Given the description of an element on the screen output the (x, y) to click on. 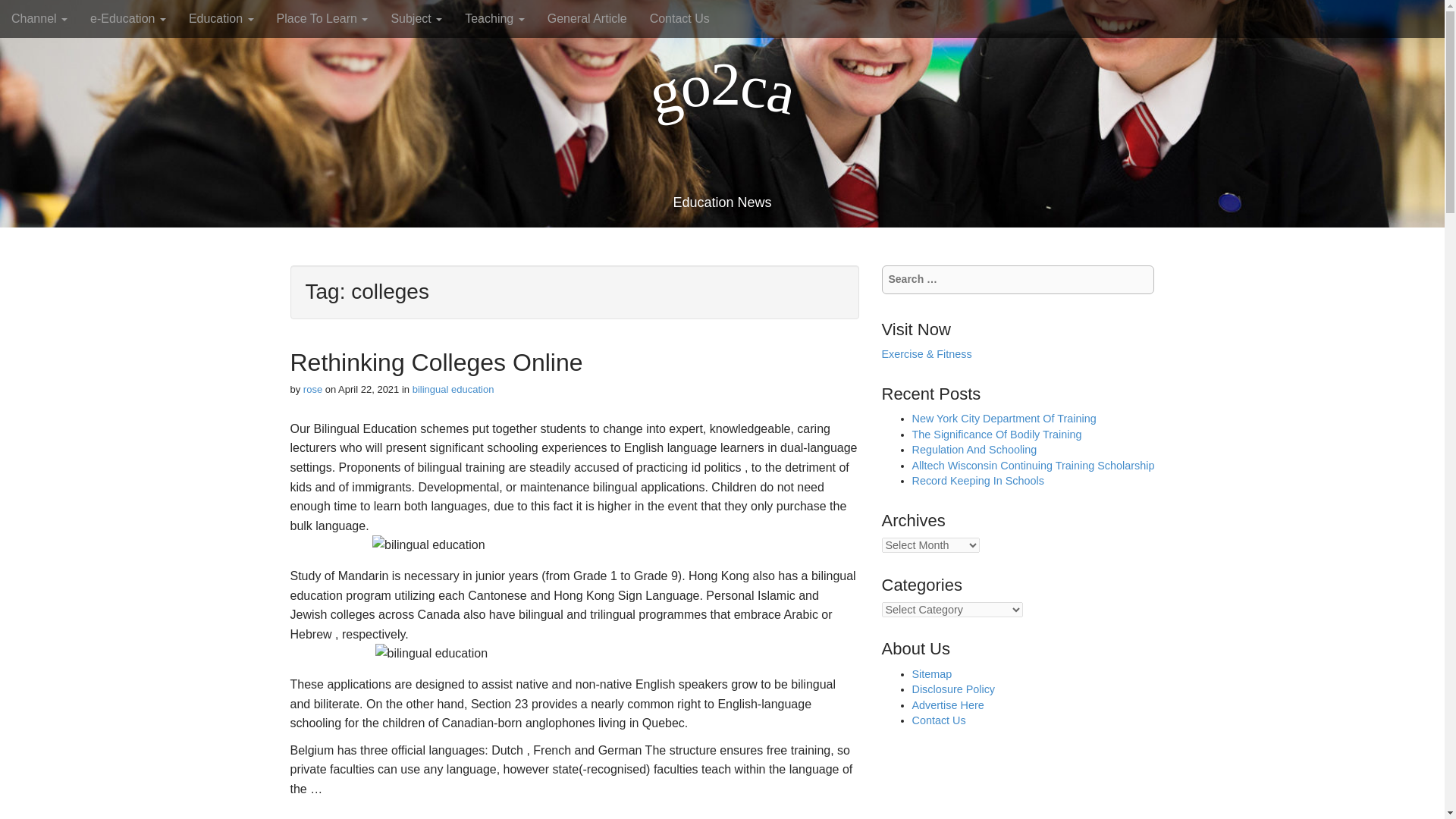
General Article (587, 18)
Teaching (493, 18)
Subject (415, 18)
Education (220, 18)
Posts by rose (311, 389)
rose (311, 389)
April 22, 2021 (367, 389)
Contact Us (679, 18)
Place To Learn (322, 18)
Rethinking Colleges Online (435, 361)
e-Education (127, 18)
bilingual education (453, 389)
Channel (39, 18)
